Given the description of an element on the screen output the (x, y) to click on. 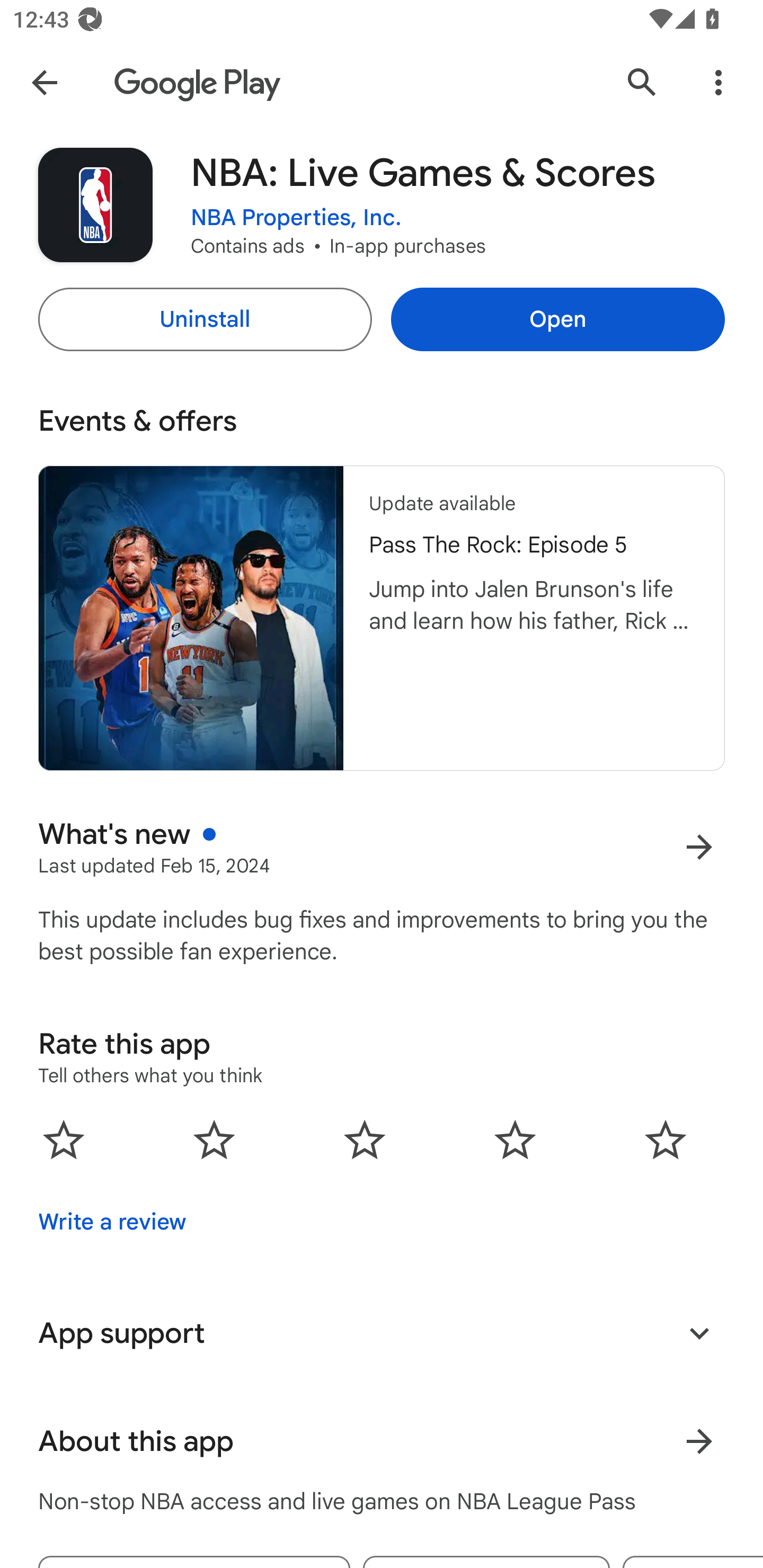
Navigate up (44, 81)
Search Google Play (642, 81)
More Options (718, 81)
NBA Properties, Inc. (295, 217)
Uninstall (205, 318)
Open (557, 318)
More results for What's new (699, 847)
0.0 (364, 1138)
Write a review (112, 1221)
App support Expand (381, 1333)
Expand (699, 1333)
About this app Learn more About this app (381, 1441)
Learn more About this app (699, 1441)
